Given the description of an element on the screen output the (x, y) to click on. 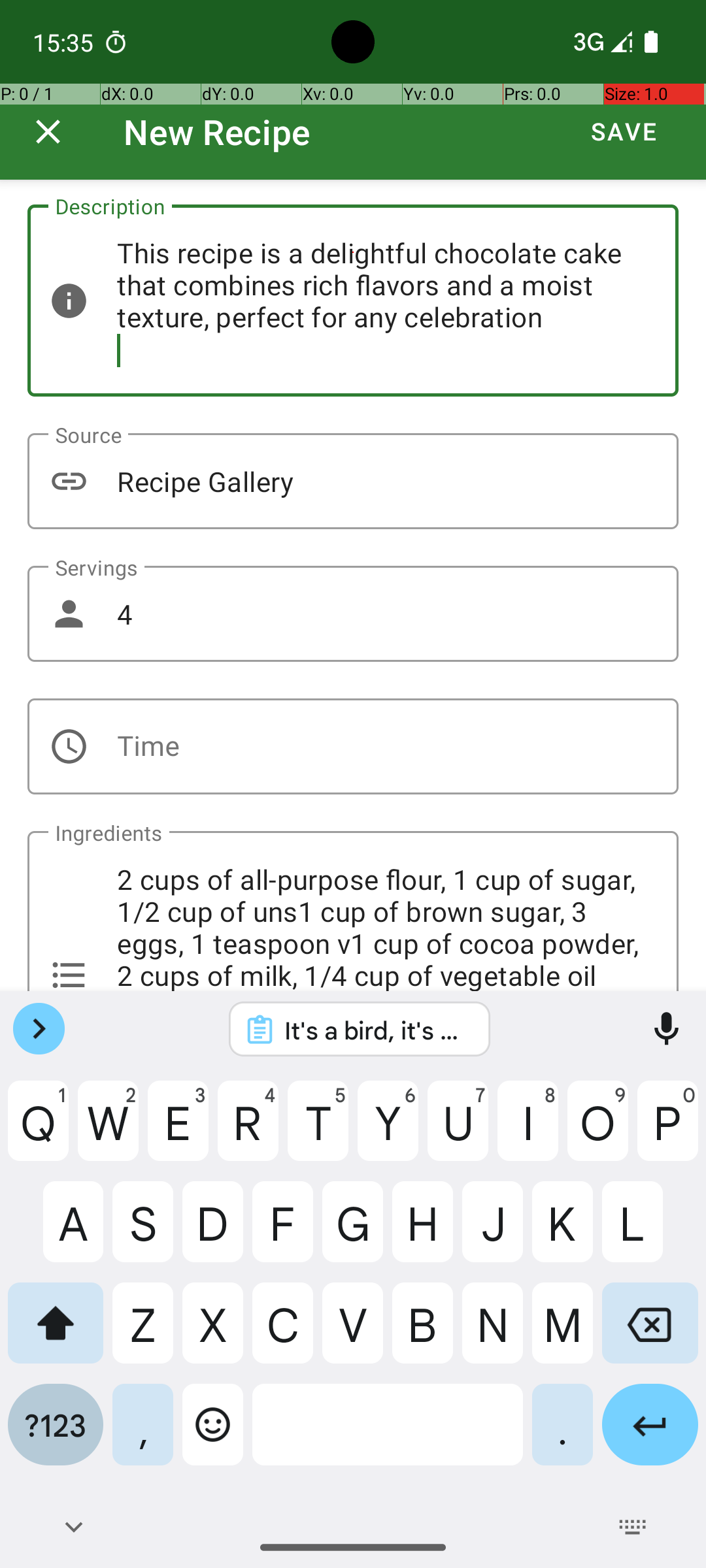
This recipe is a delightful chocolate cake that combines rich flavors and a moist texture, perfect for any celebration
 Element type: android.widget.EditText (352, 300)
Recipe Gallery Element type: android.widget.EditText (352, 481)
2 cups of all-purpose flour, 1 cup of sugar, 1/2 cup of uns1 cup of brown sugar, 3 eggs, 1 teaspoon v1 cup of cocoa powder, 2 cups of milk, 1/4 cup of vegetable oil
anilla extract, 2 teaspoons baking

 Element type: android.widget.EditText (352, 911)
